Given the description of an element on the screen output the (x, y) to click on. 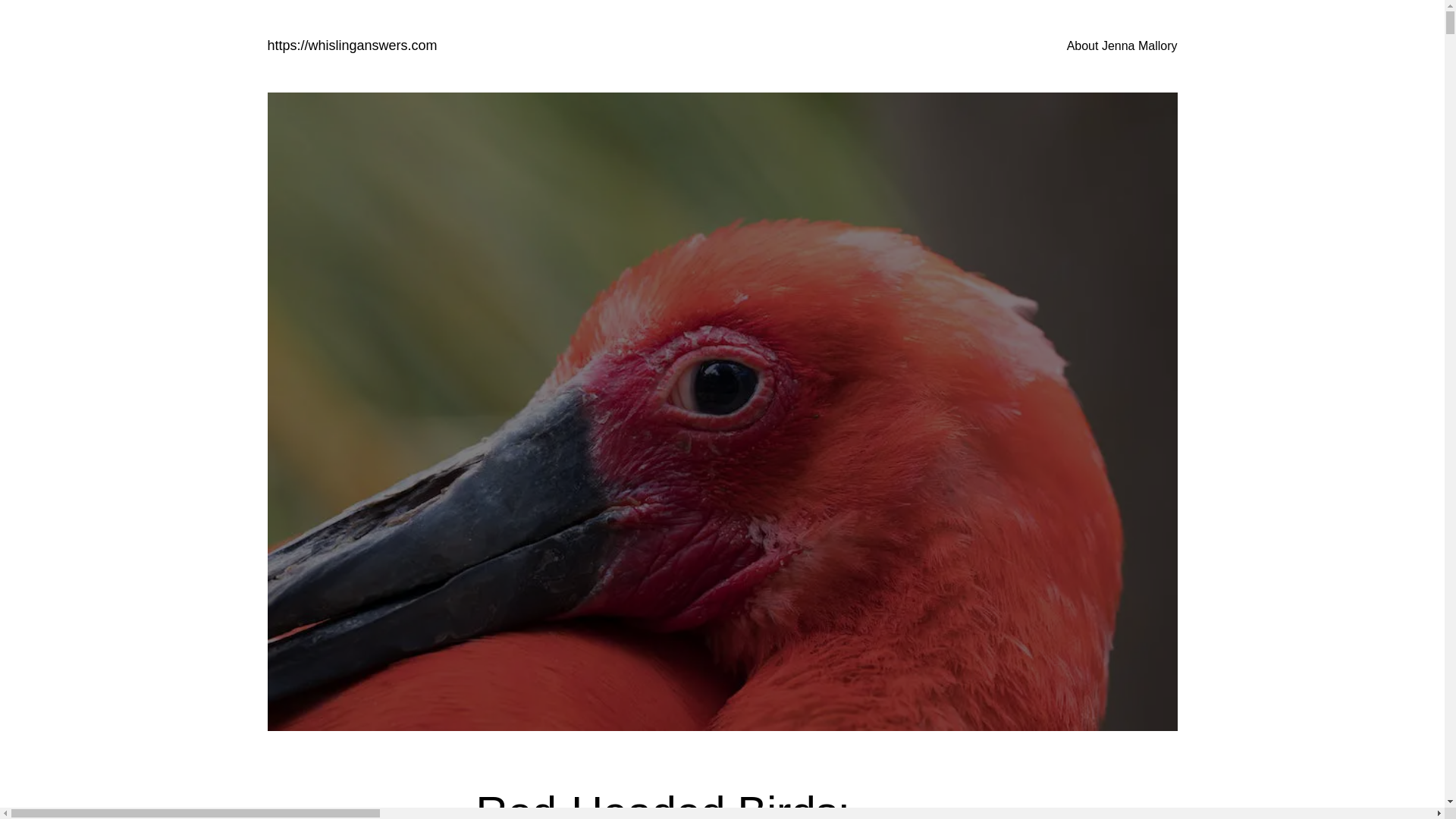
About Jenna Mallory (1122, 46)
